Given the description of an element on the screen output the (x, y) to click on. 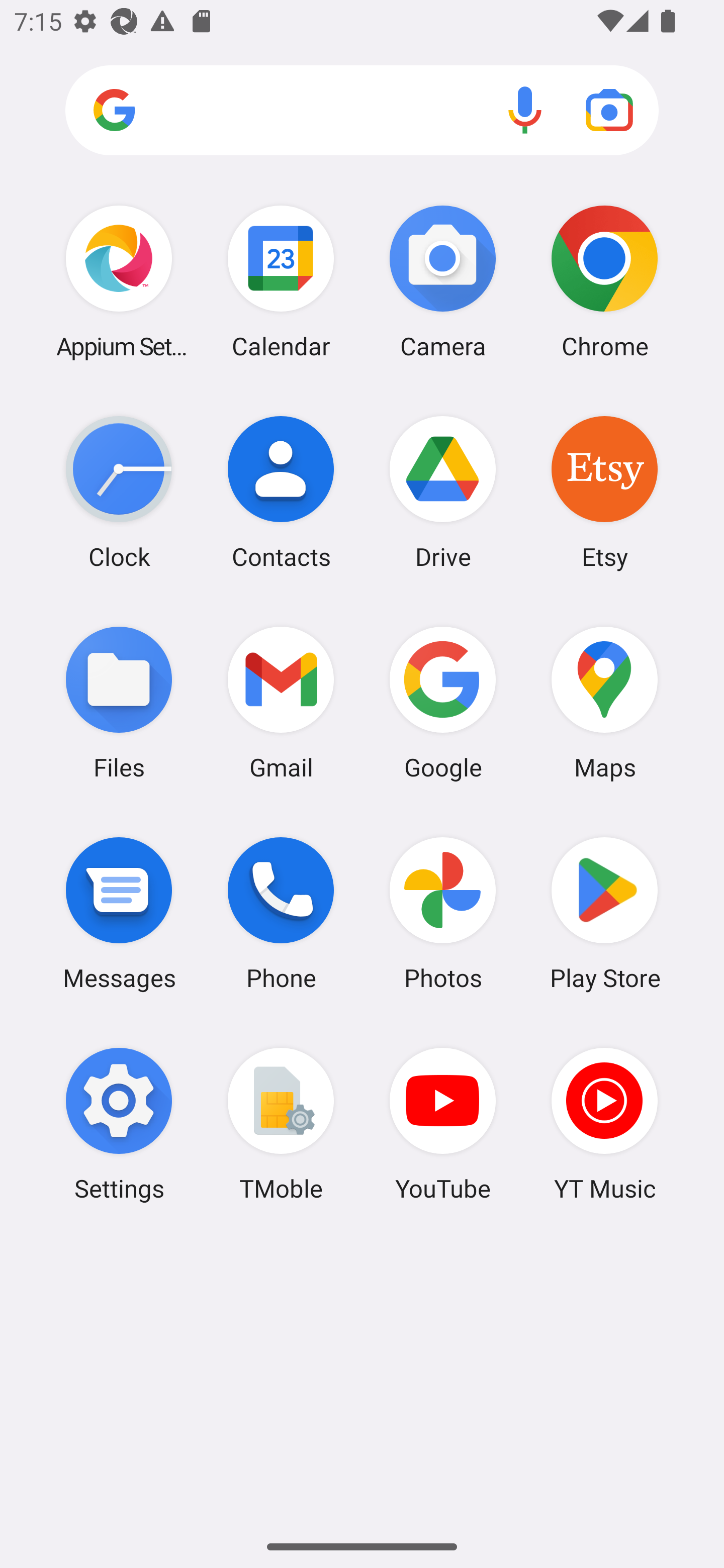
Search apps, web and more (361, 110)
Voice search (524, 109)
Google Lens (608, 109)
Appium Settings (118, 281)
Calendar (280, 281)
Camera (443, 281)
Chrome (604, 281)
Clock (118, 492)
Contacts (280, 492)
Drive (443, 492)
Etsy (604, 492)
Files (118, 702)
Gmail (280, 702)
Google (443, 702)
Maps (604, 702)
Messages (118, 913)
Phone (280, 913)
Photos (443, 913)
Play Store (604, 913)
Settings (118, 1124)
TMoble (280, 1124)
YouTube (443, 1124)
YT Music (604, 1124)
